Given the description of an element on the screen output the (x, y) to click on. 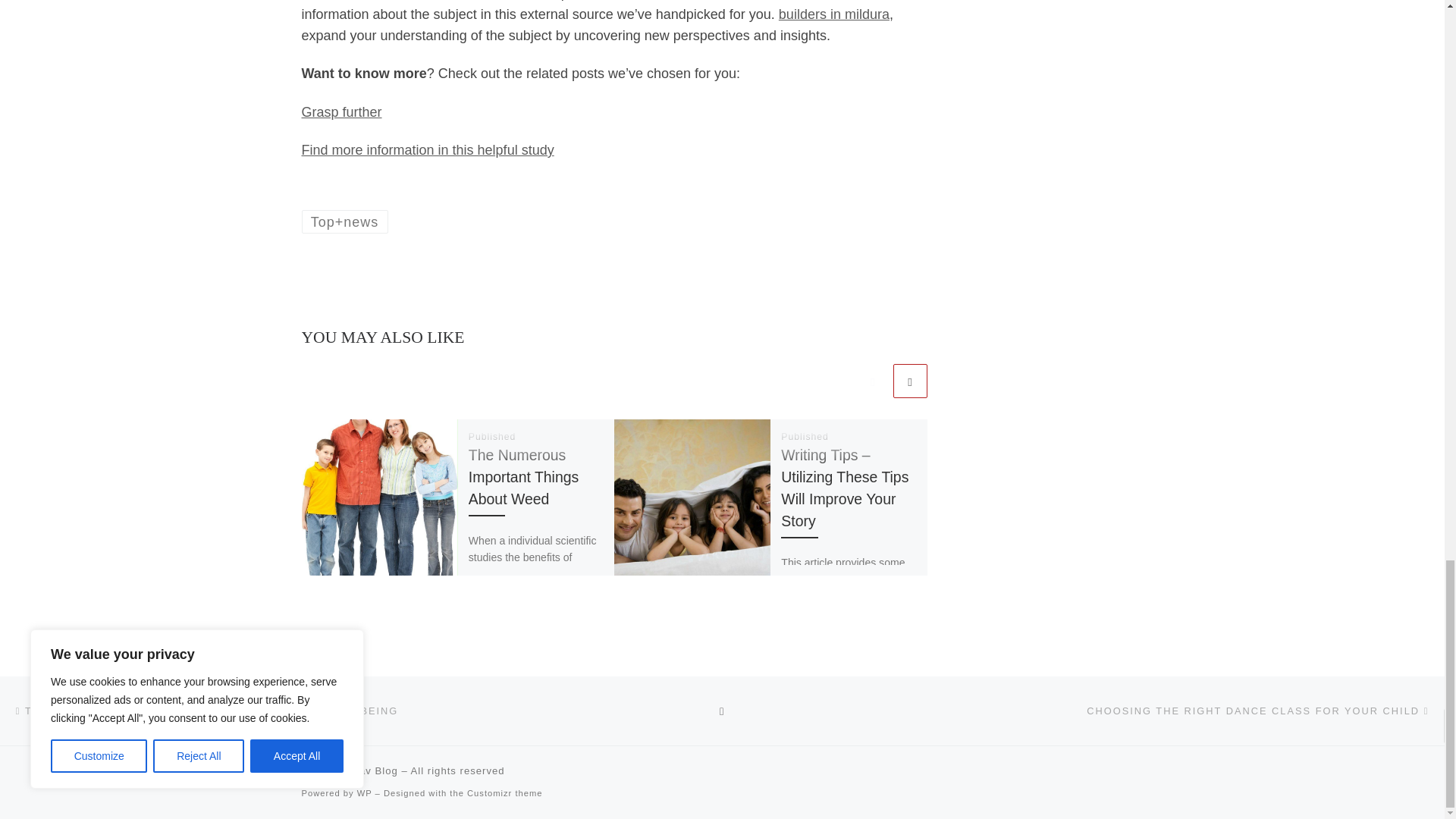
Next related articles (910, 380)
Previous related articles (872, 380)
Grasp further (341, 111)
Catav Blog (369, 770)
Find more information in this helpful study (427, 150)
Customizr theme (505, 792)
builders in mildura (833, 14)
Powered by WordPress (364, 792)
